Given the description of an element on the screen output the (x, y) to click on. 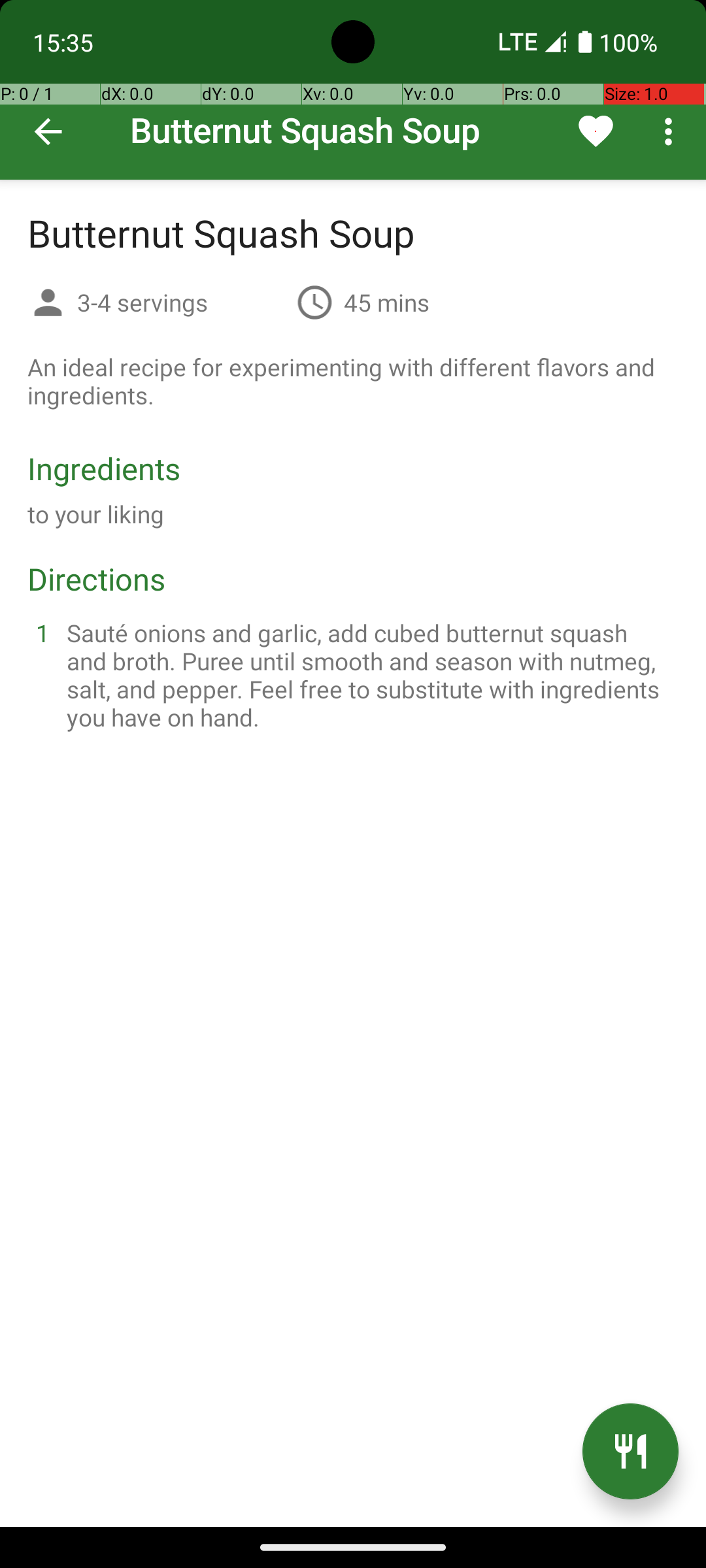
to your liking Element type: android.widget.TextView (95, 513)
Sauté onions and garlic, add cubed butternut squash and broth. Puree until smooth and season with nutmeg, salt, and pepper. Feel free to substitute with ingredients you have on hand. Element type: android.widget.TextView (368, 674)
